Given the description of an element on the screen output the (x, y) to click on. 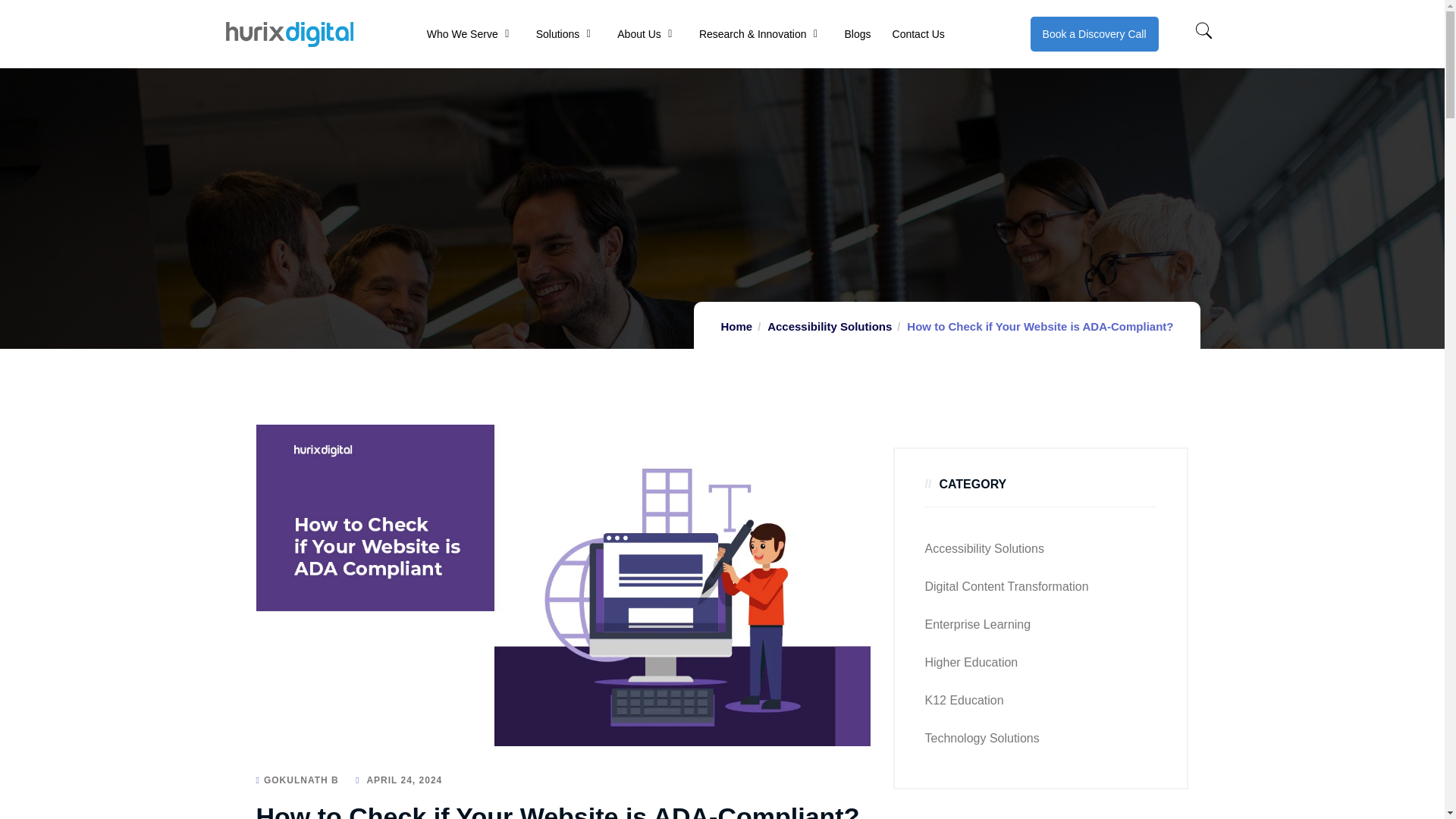
Contact Us (918, 33)
Solutions (557, 33)
Who We Serve (461, 33)
About Us (639, 33)
Blogs (857, 33)
